Given the description of an element on the screen output the (x, y) to click on. 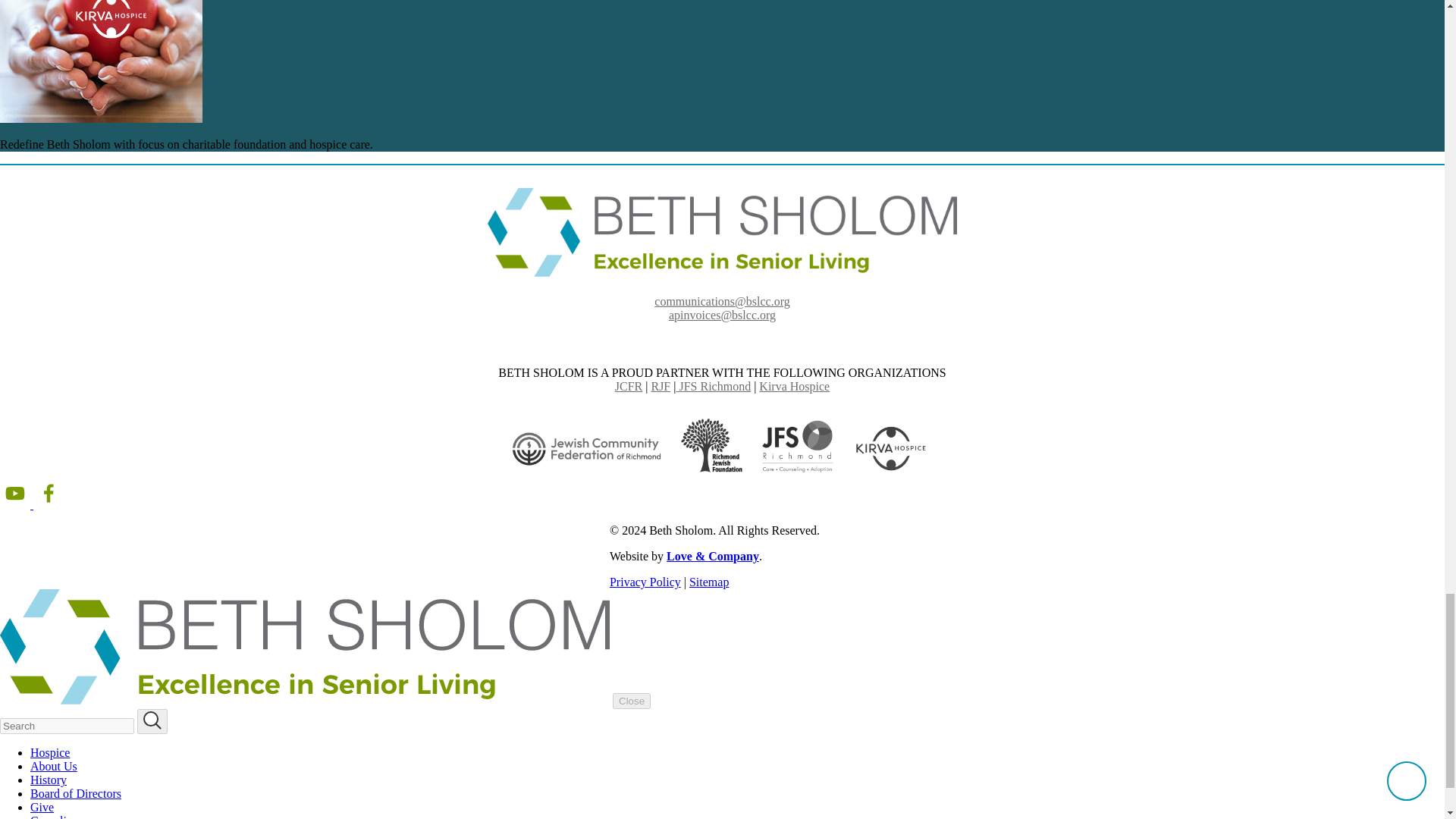
Privacy Policy (645, 581)
Close (631, 700)
Sitemap (708, 581)
Board of Directors (75, 793)
About Us (53, 766)
JCFR (628, 386)
History (48, 779)
Compliance (59, 816)
JFS Richmond (713, 386)
Give (41, 807)
RJF (659, 386)
Kirva Hospice (793, 386)
Hospice (49, 752)
